Given the description of an element on the screen output the (x, y) to click on. 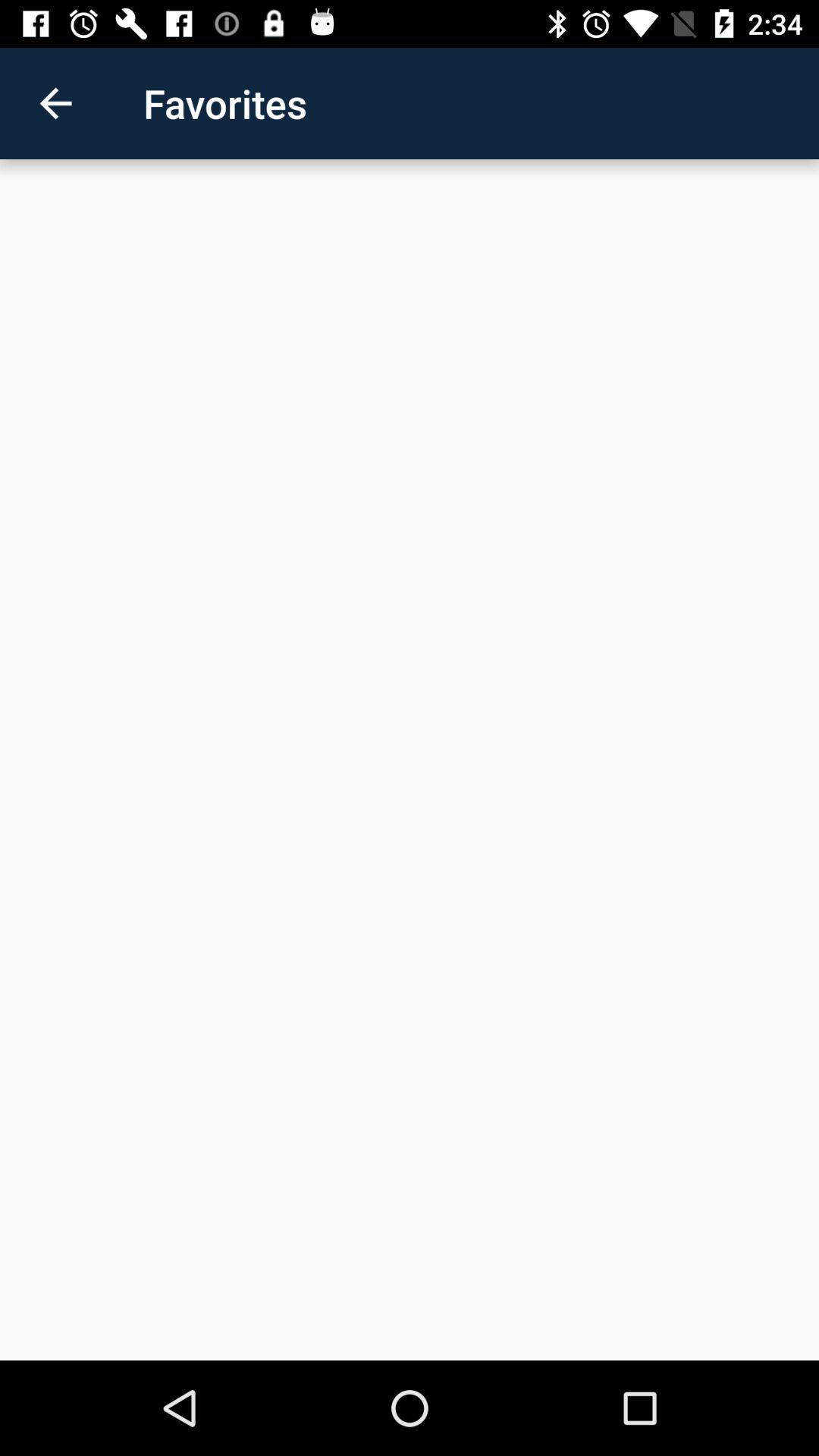
choose the app to the left of the favorites app (55, 103)
